Given the description of an element on the screen output the (x, y) to click on. 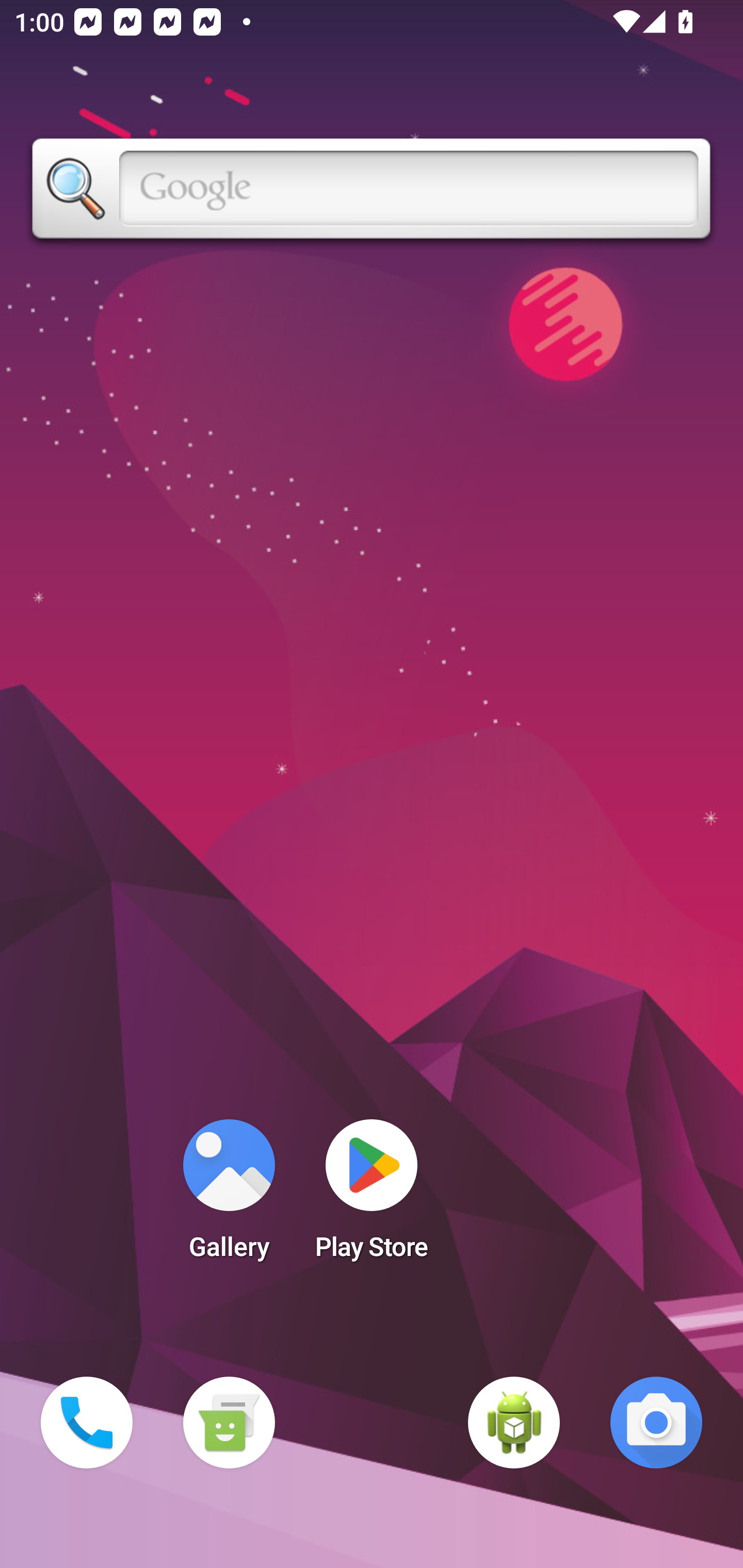
Gallery (228, 1195)
Play Store (371, 1195)
Phone (86, 1422)
Messaging (228, 1422)
WebView Browser Tester (513, 1422)
Camera (656, 1422)
